Given the description of an element on the screen output the (x, y) to click on. 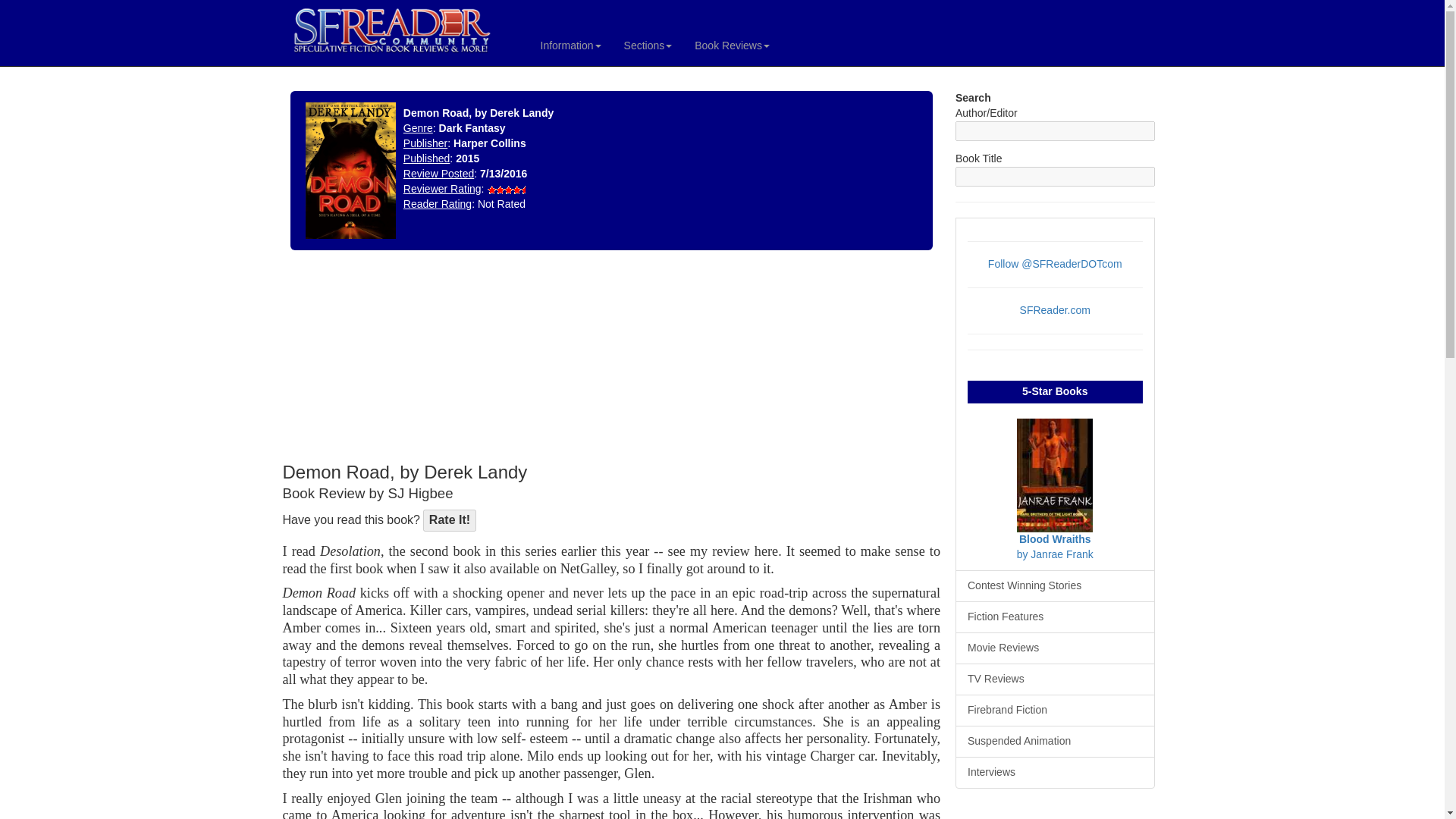
sfreader annual story contest winners (1054, 585)
Suspended Animation comic review archives (1054, 741)
Rate It! (449, 520)
sfreader movie reviews (1054, 648)
Advertisement (392, 360)
sfreader fiction feature stories (1054, 617)
SFReader TV show reviews (1054, 679)
SFReader Firebrand Fiction archives (1054, 710)
SFReader author interview archives (1054, 772)
Book Reviews (731, 45)
